Given the description of an element on the screen output the (x, y) to click on. 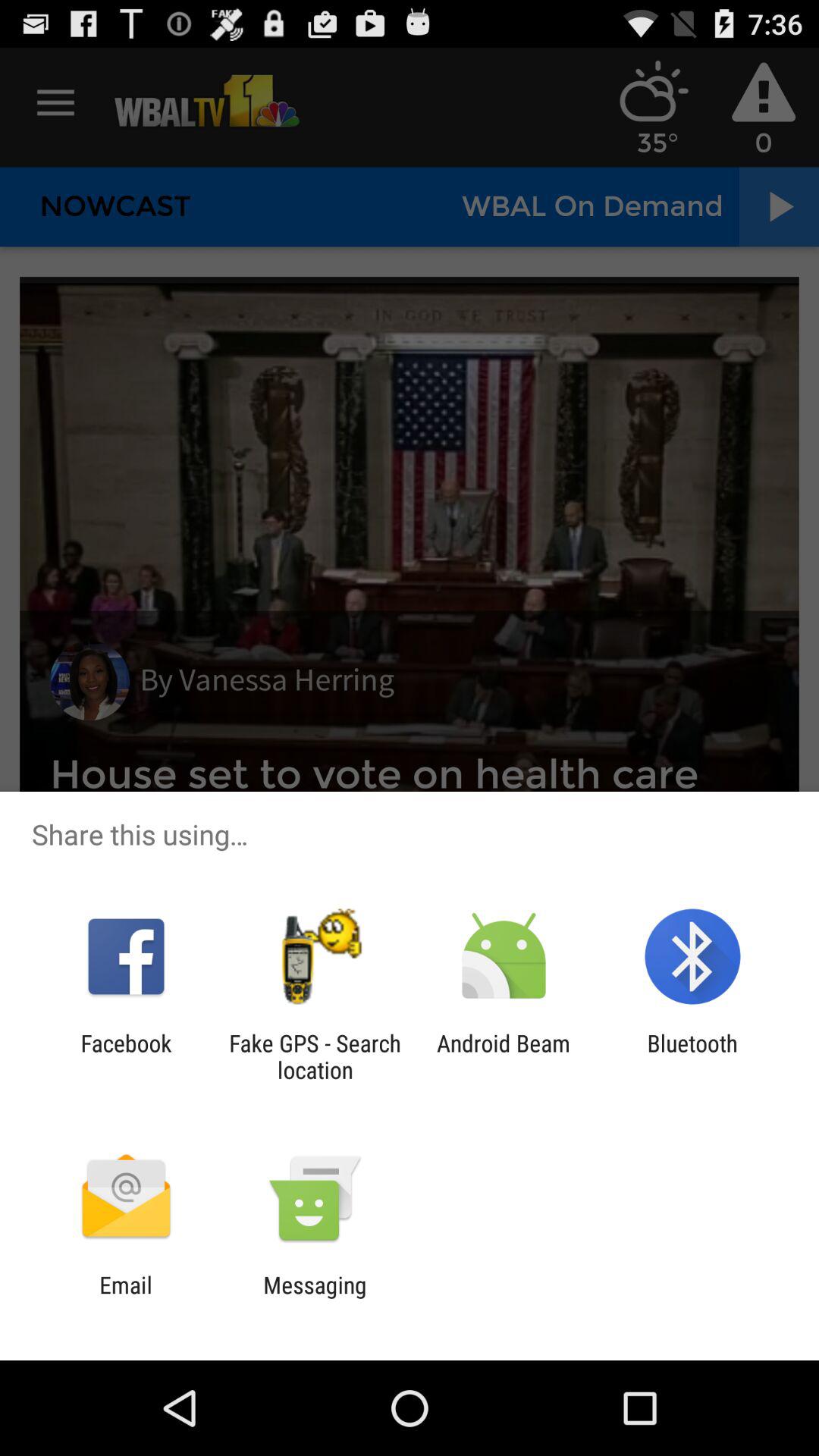
launch app to the left of messaging item (125, 1298)
